Given the description of an element on the screen output the (x, y) to click on. 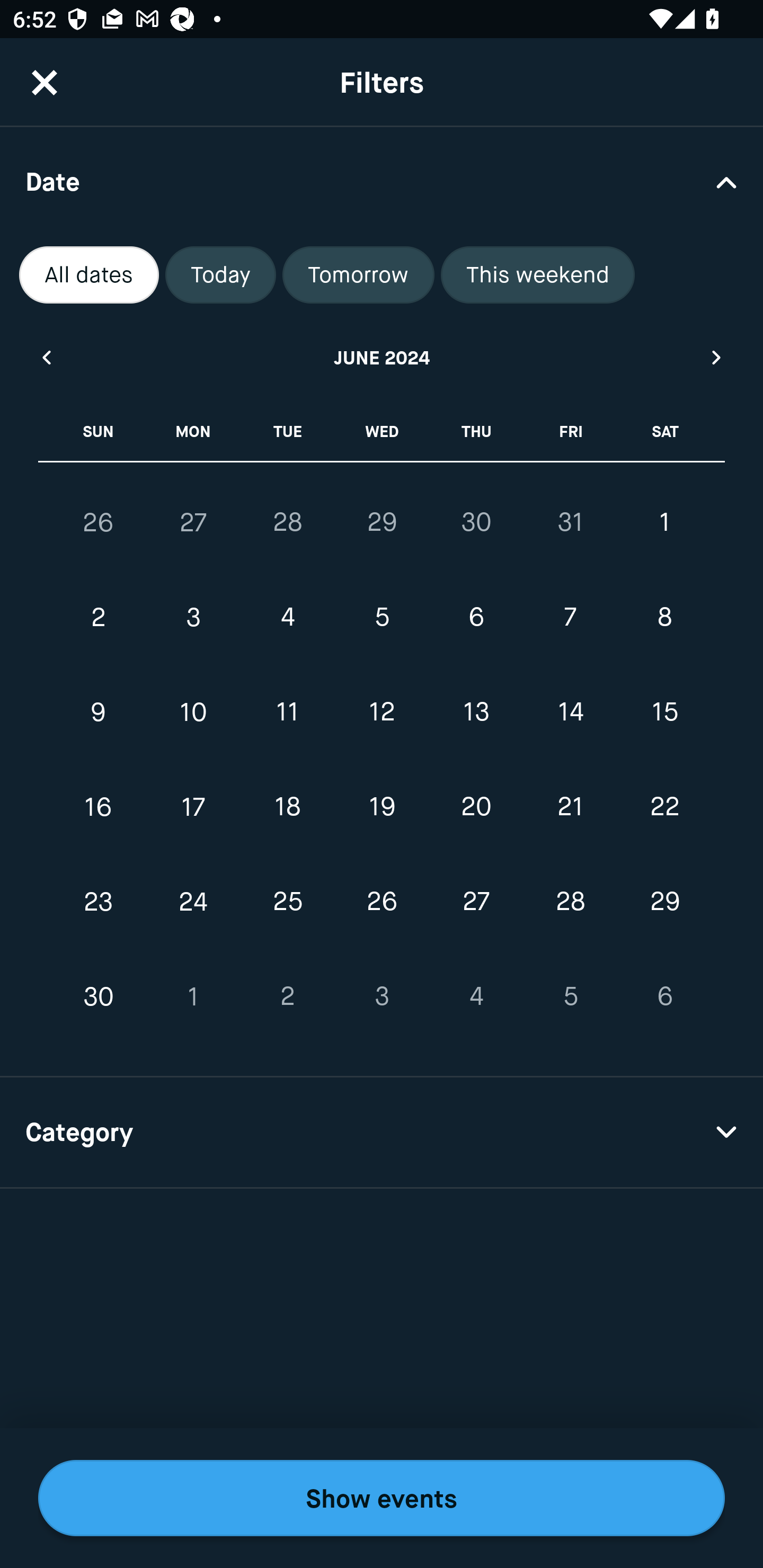
CloseButton (44, 82)
Date Drop Down Arrow (381, 181)
All dates (88, 274)
Today (220, 274)
Tomorrow (358, 274)
This weekend (537, 274)
Previous (45, 357)
Next (717, 357)
26 (98, 522)
27 (192, 522)
28 (287, 522)
29 (381, 522)
30 (475, 522)
31 (570, 522)
1 (664, 522)
2 (98, 617)
3 (192, 617)
4 (287, 617)
5 (381, 617)
6 (475, 617)
7 (570, 617)
8 (664, 617)
9 (98, 711)
10 (192, 711)
11 (287, 711)
12 (381, 711)
13 (475, 711)
14 (570, 711)
15 (664, 711)
16 (98, 806)
17 (192, 806)
18 (287, 806)
19 (381, 806)
20 (475, 806)
21 (570, 806)
22 (664, 806)
23 (98, 901)
24 (192, 901)
25 (287, 901)
26 (381, 901)
27 (475, 901)
28 (570, 901)
29 (664, 901)
30 (98, 996)
1 (192, 996)
2 (287, 996)
3 (381, 996)
4 (475, 996)
5 (570, 996)
6 (664, 996)
